Given the description of an element on the screen output the (x, y) to click on. 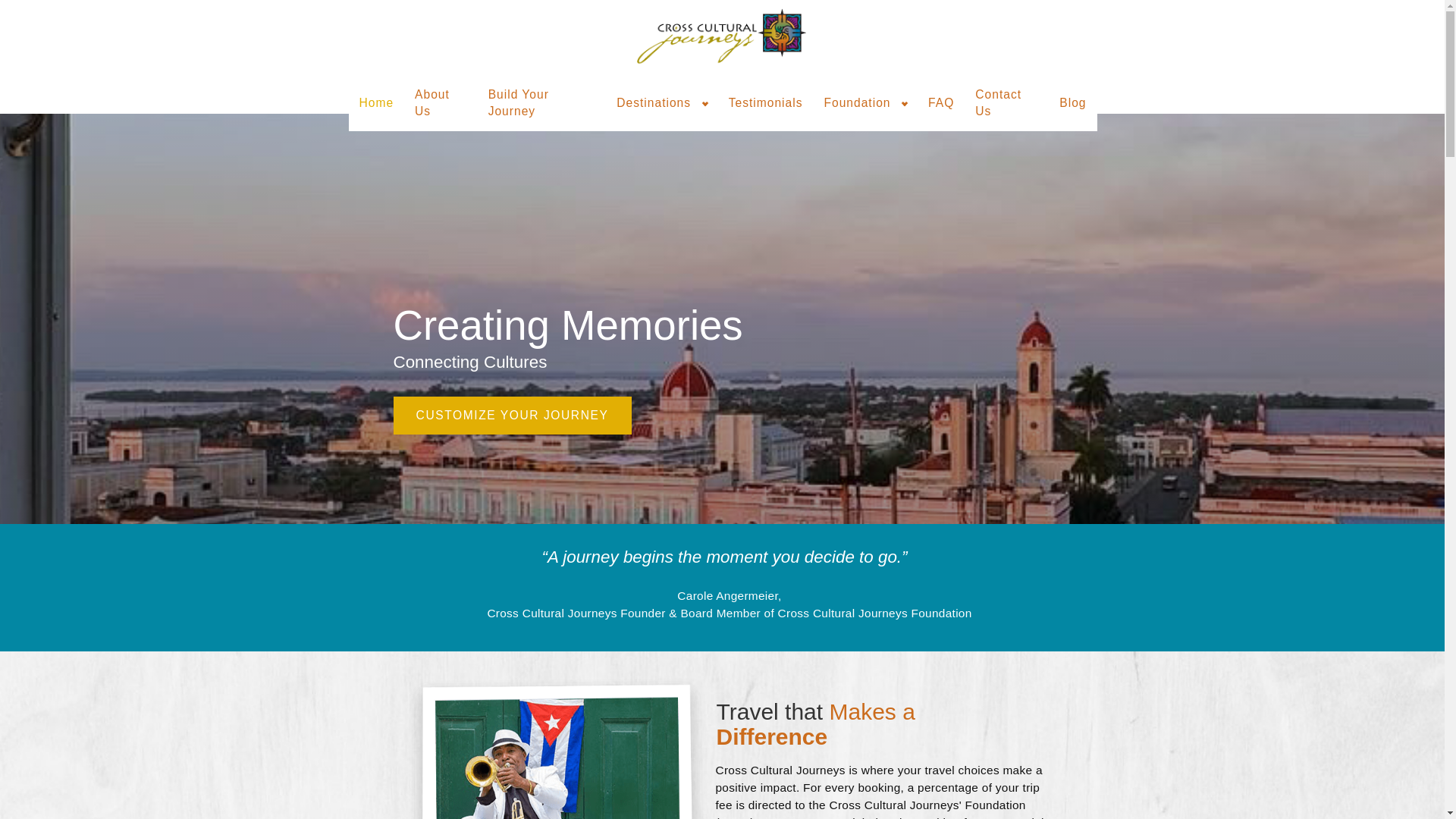
Blog (1072, 103)
Testimonials (766, 103)
FAQ (940, 103)
About Us (440, 103)
Destinations (652, 103)
Contact Us (1006, 103)
Build Your Journey (541, 103)
CUSTOMIZE YOUR JOURNEY (511, 415)
Home (376, 103)
Foundation (856, 103)
